Given the description of an element on the screen output the (x, y) to click on. 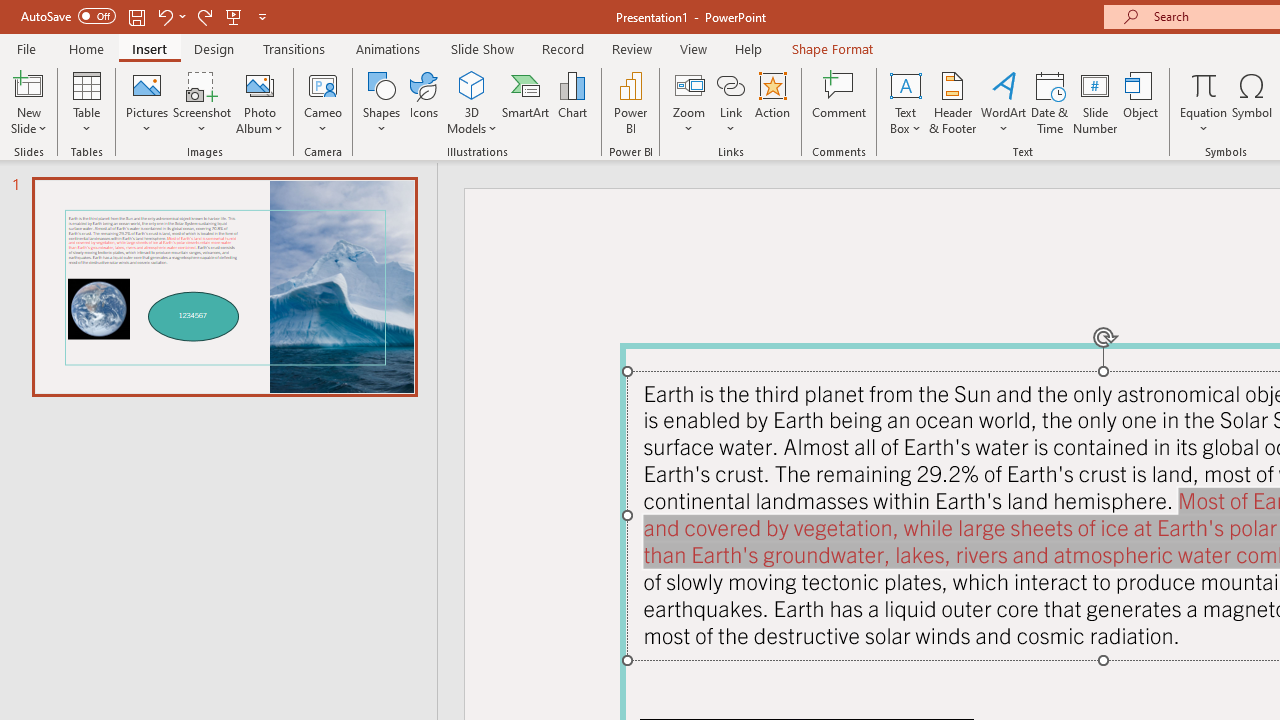
3D Models (472, 102)
WordArt (1004, 102)
Action (772, 102)
Comment (839, 102)
Object... (1141, 102)
